Given the description of an element on the screen output the (x, y) to click on. 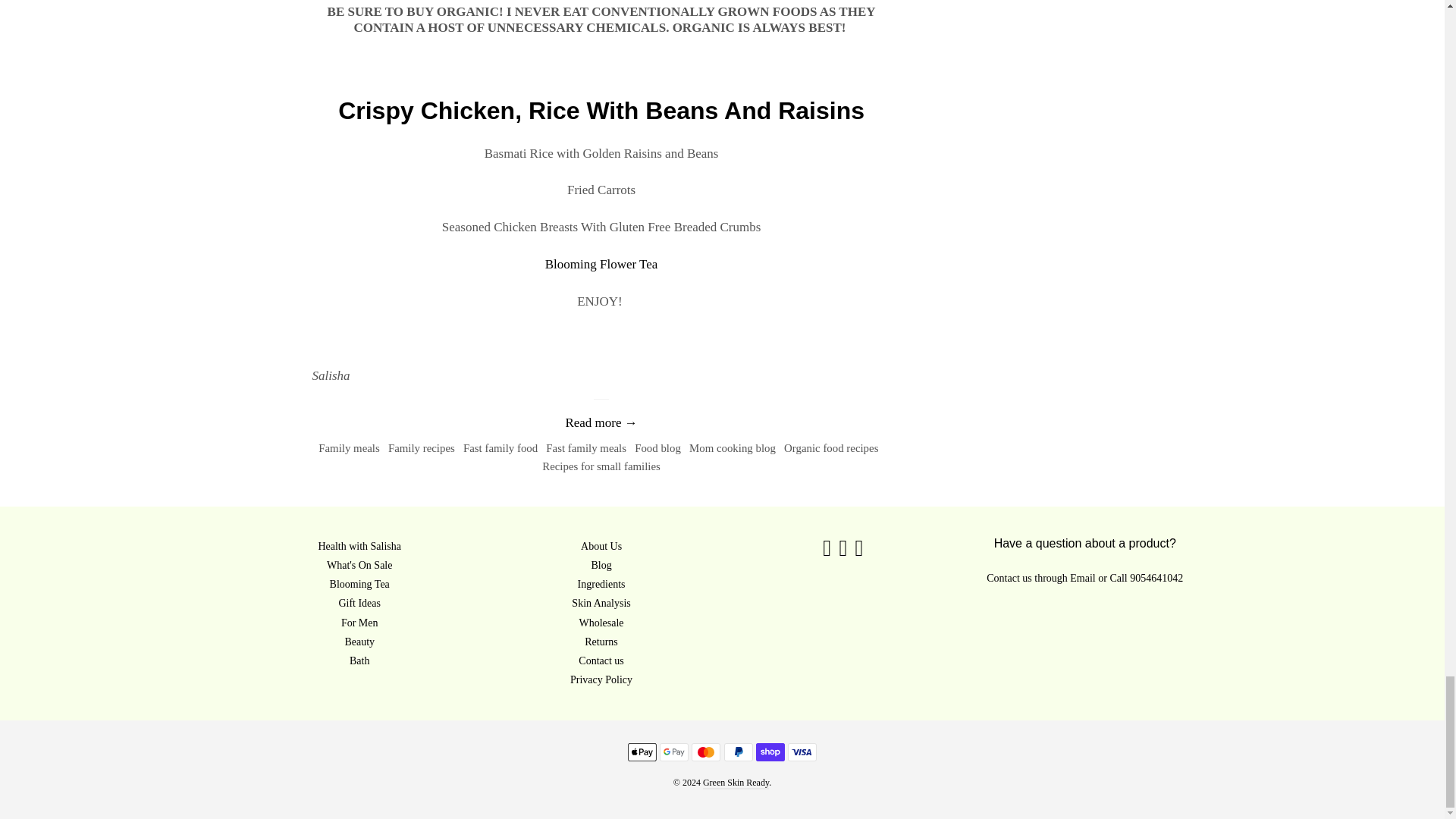
Google Pay (673, 751)
PayPal (737, 751)
Shop Pay (769, 751)
Visa (801, 751)
Mastercard (705, 751)
Apple Pay (641, 751)
